Given the description of an element on the screen output the (x, y) to click on. 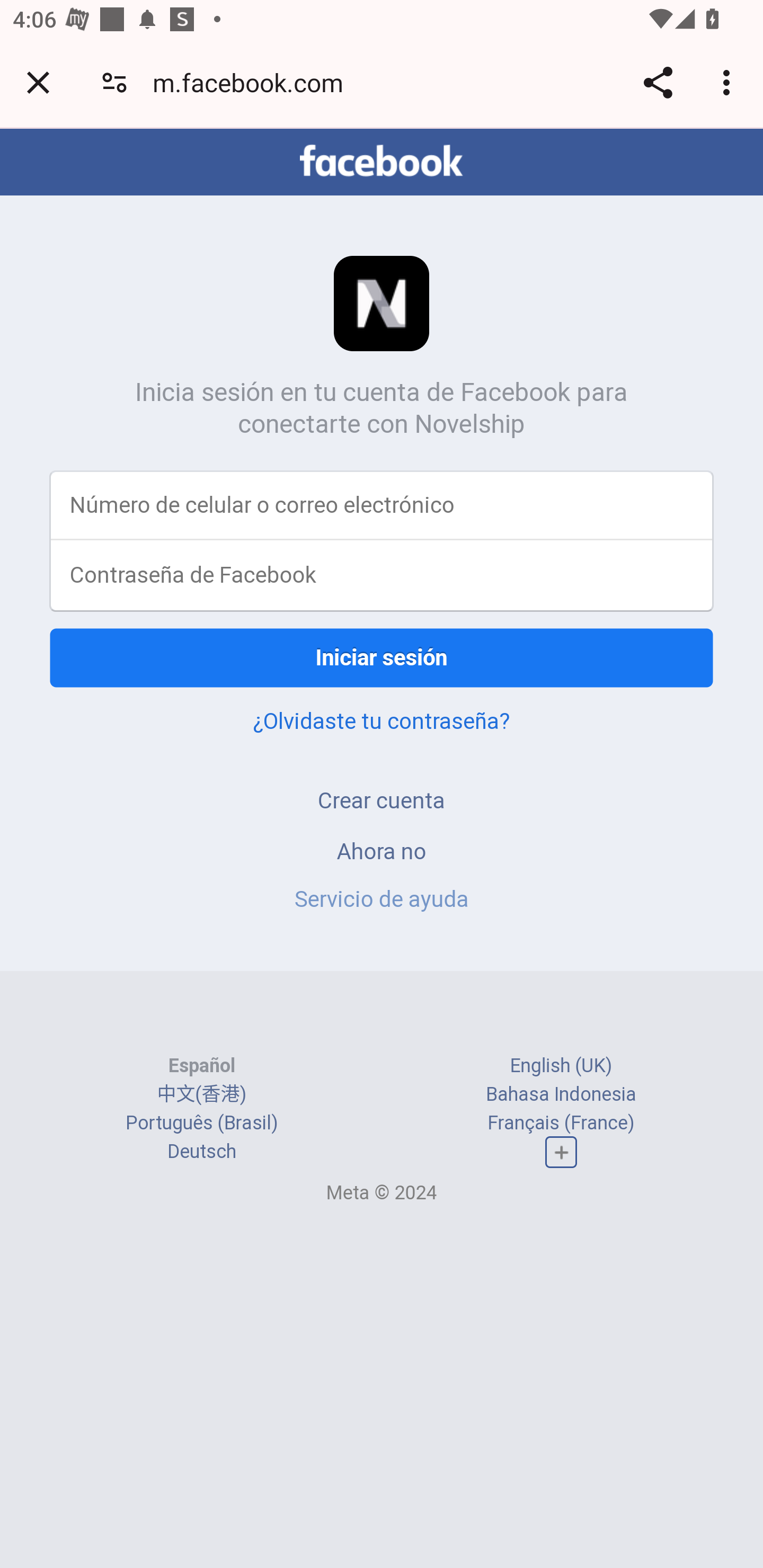
Close tab (38, 82)
Share (657, 82)
Customize and control Google Chrome (729, 82)
Connection is secure (114, 81)
m.facebook.com (254, 81)
facebook (381, 160)
Iniciar sesión (381, 657)
¿Olvidaste tu contraseña? (381, 720)
Crear cuenta (381, 800)
Ahora no (381, 850)
Servicio de ayuda (381, 898)
English (UK) (560, 1065)
中文(香港) (201, 1093)
Bahasa Indonesia (560, 1093)
Português (Brasil) (201, 1122)
Français (France) (560, 1122)
Lista completa de idiomas (560, 1152)
Deutsch (201, 1151)
